Given the description of an element on the screen output the (x, y) to click on. 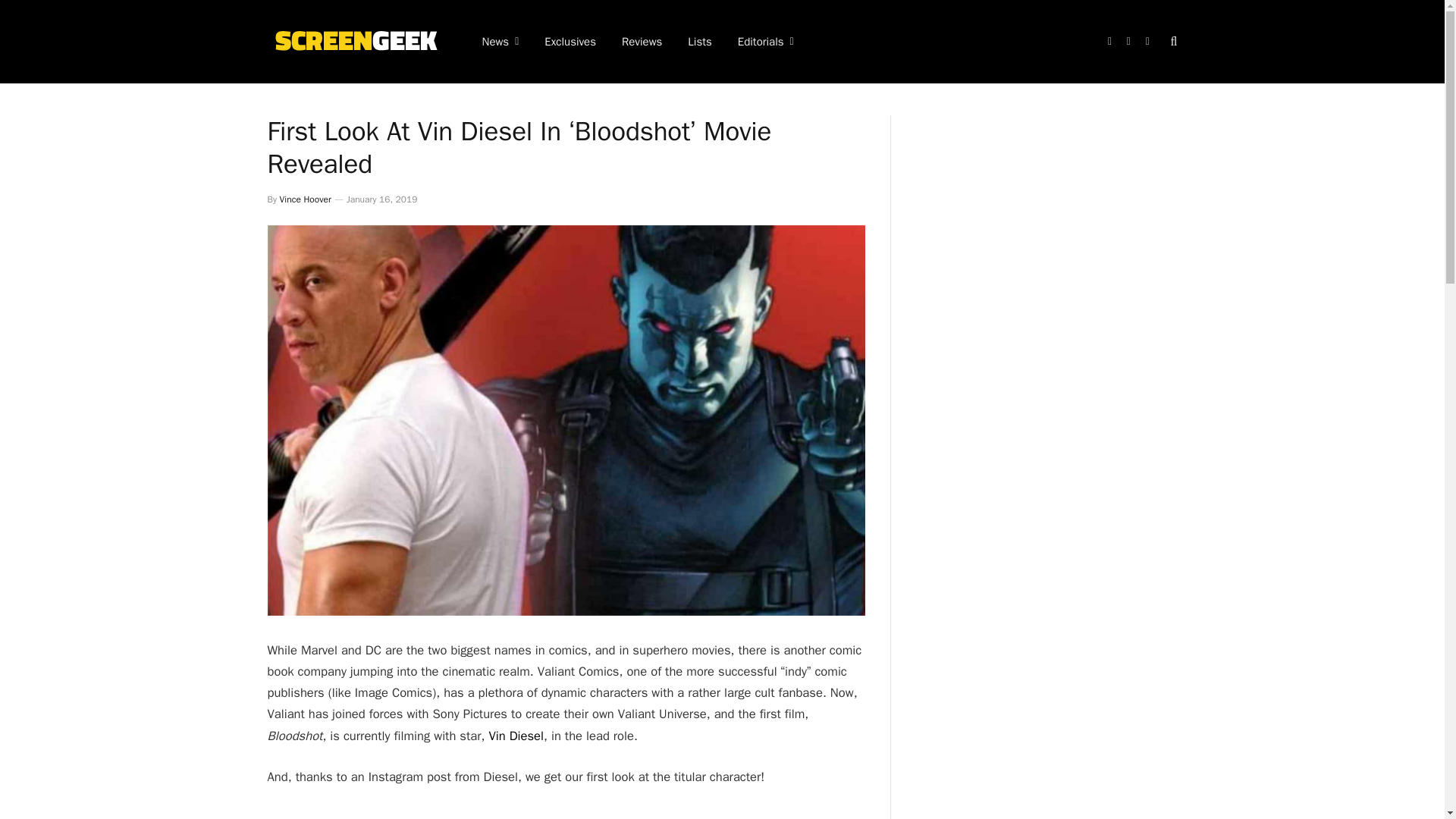
Editorials (765, 41)
Exclusives (569, 41)
Vin Diesel (515, 735)
Posts by Vince Hoover (305, 199)
ScreenGeek (354, 41)
Vince Hoover (305, 199)
